Given the description of an element on the screen output the (x, y) to click on. 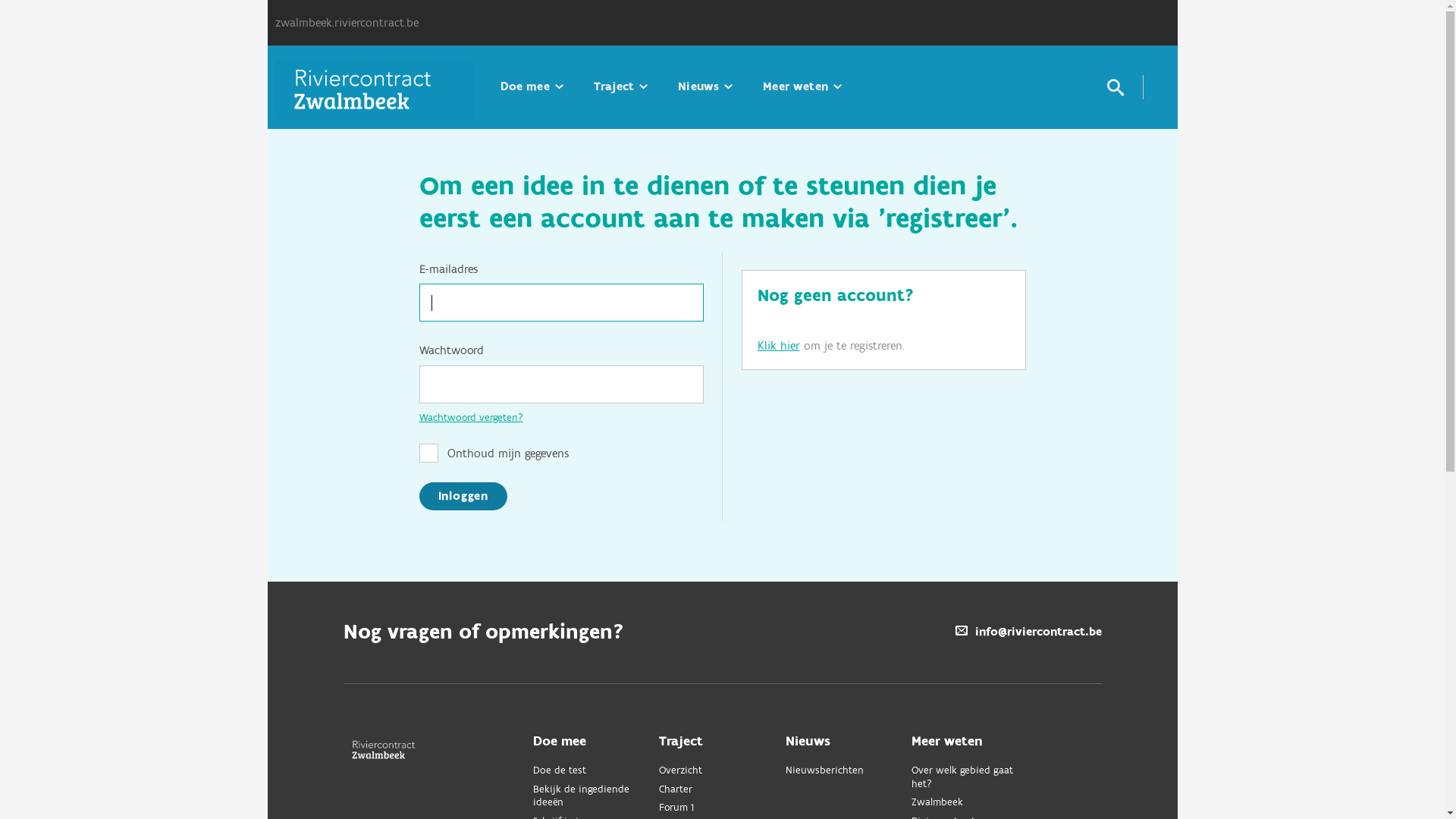
Wachtwoord vergeten? Element type: text (470, 417)
Inloggen Element type: text (462, 496)
Doe mee Element type: text (531, 86)
Zwalmbeek Element type: text (968, 802)
Over welk gebied gaat het? Element type: text (968, 777)
Doe de test Element type: text (589, 771)
Traject Element type: text (620, 86)
Nieuws Element type: text (705, 86)
zwalmbeek.riviercontract.be Element type: text (345, 22)
info@riviercontract.be Element type: text (1028, 632)
Nieuwsberichten Element type: text (842, 771)
Meer weten Element type: text (802, 86)
Klik hier Element type: text (777, 345)
Overzicht Element type: text (716, 771)
Forum 1 Element type: text (716, 808)
Charter Element type: text (716, 790)
